Given the description of an element on the screen output the (x, y) to click on. 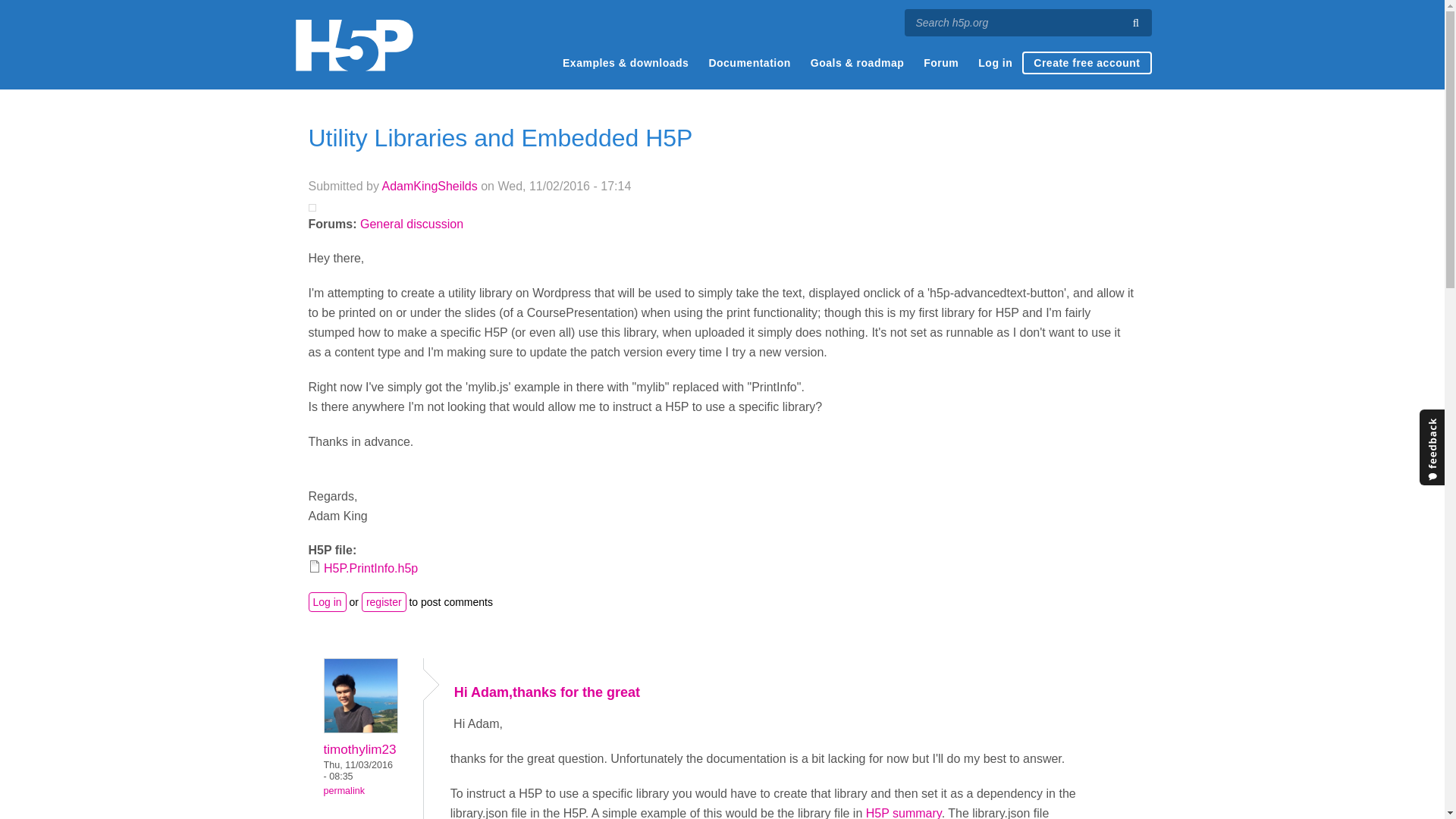
View user profile. (359, 749)
timothylim23 (359, 749)
H5P summary (904, 812)
Front page (353, 44)
View user profile. (429, 185)
 Hi Adam,thanks for the great (544, 692)
General discussion (411, 223)
register (383, 601)
View user profile. (360, 728)
Create free account (1086, 62)
Log in (994, 62)
permalink (343, 790)
timothylim23's picture (360, 695)
Log in (326, 601)
Documentation (748, 62)
